Given the description of an element on the screen output the (x, y) to click on. 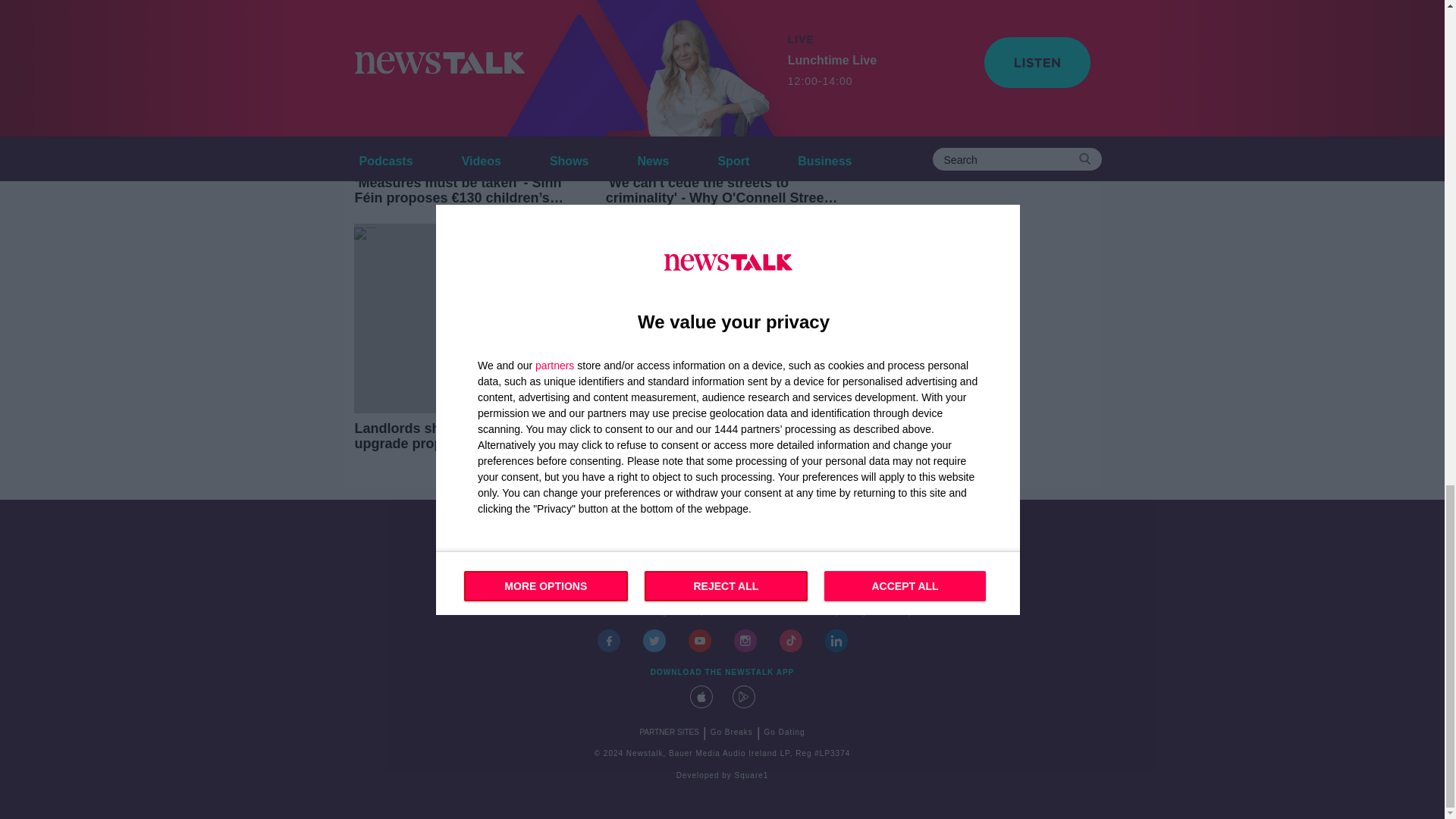
competitions (708, 612)
site terms (772, 612)
Privacy (897, 612)
Privacy Policy (838, 612)
events (592, 612)
contact (547, 612)
advertising (644, 612)
